Given the description of an element on the screen output the (x, y) to click on. 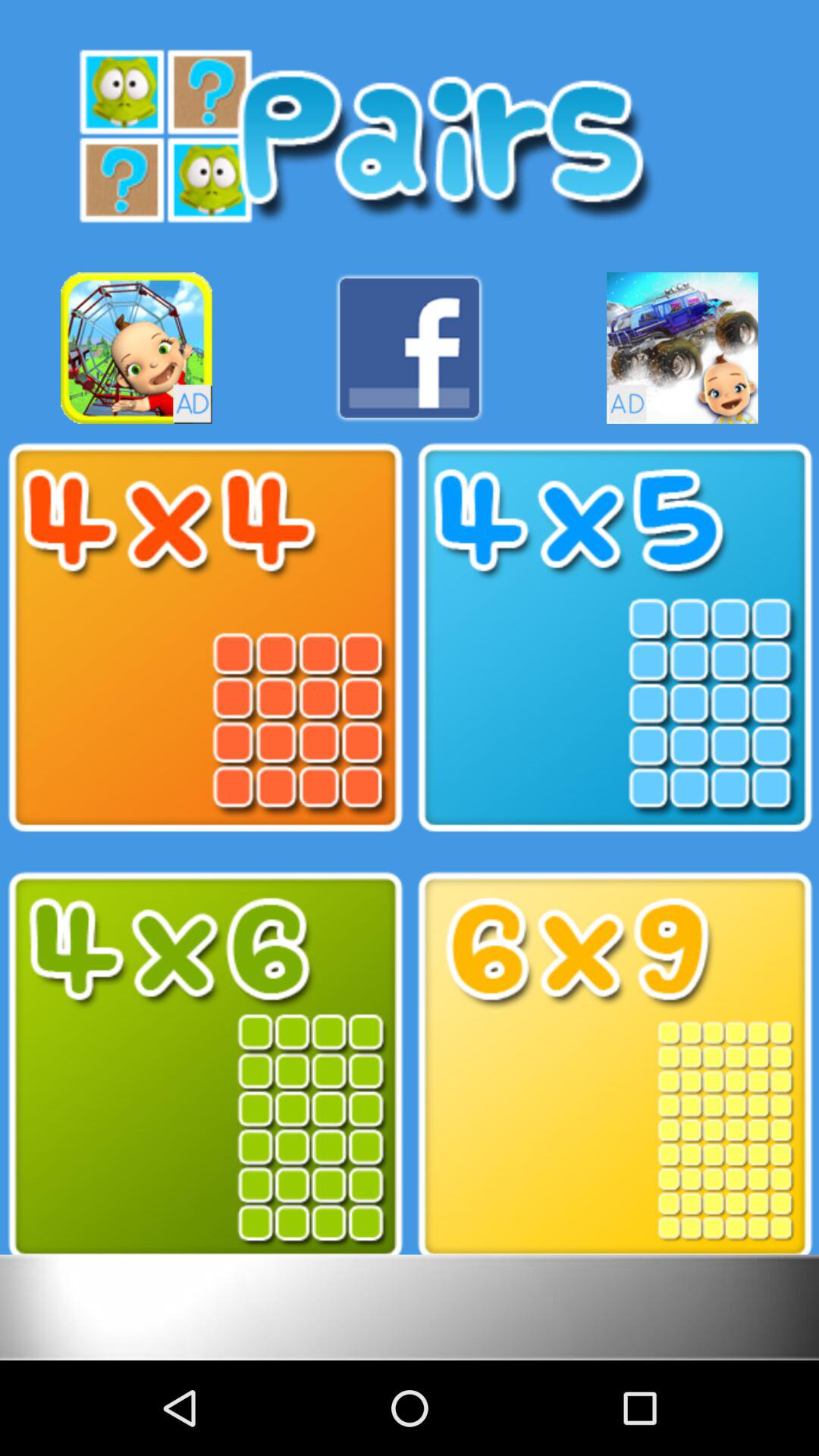
check to facebook (409, 347)
